Given the description of an element on the screen output the (x, y) to click on. 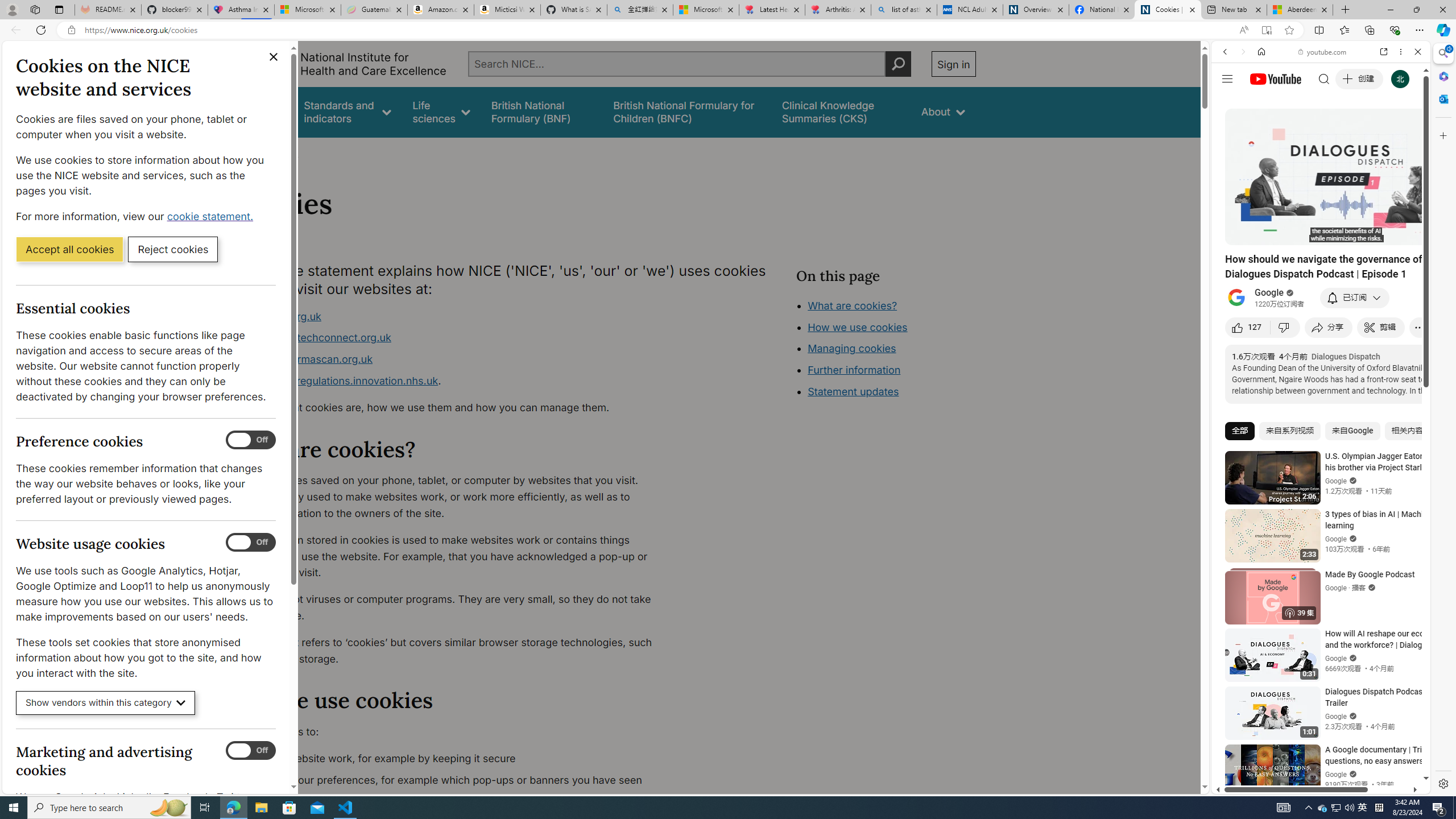
www.digitalregulations.innovation.nhs.uk. (452, 380)
false (841, 111)
